Given the description of an element on the screen output the (x, y) to click on. 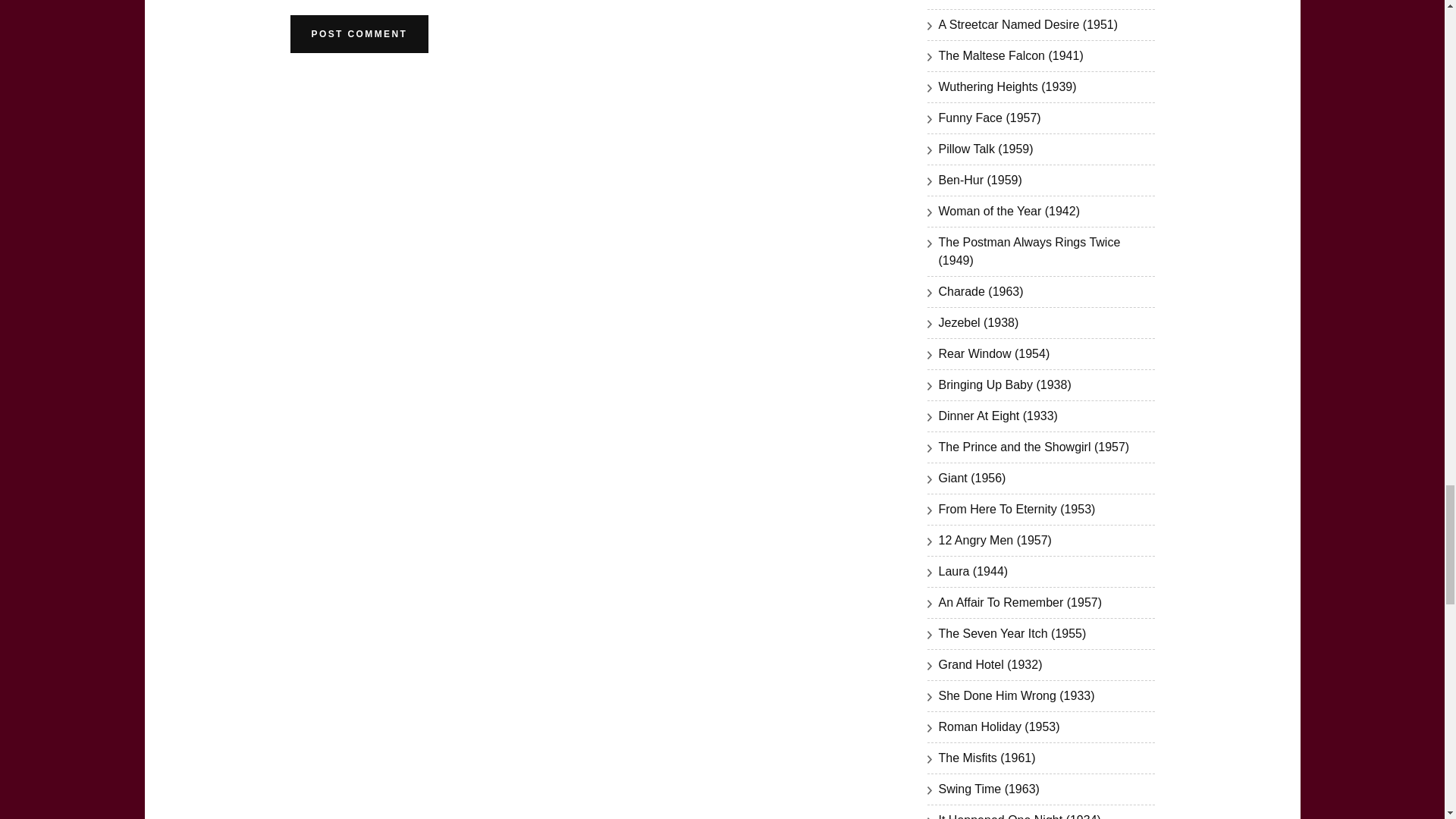
Post Comment (358, 34)
